Given the description of an element on the screen output the (x, y) to click on. 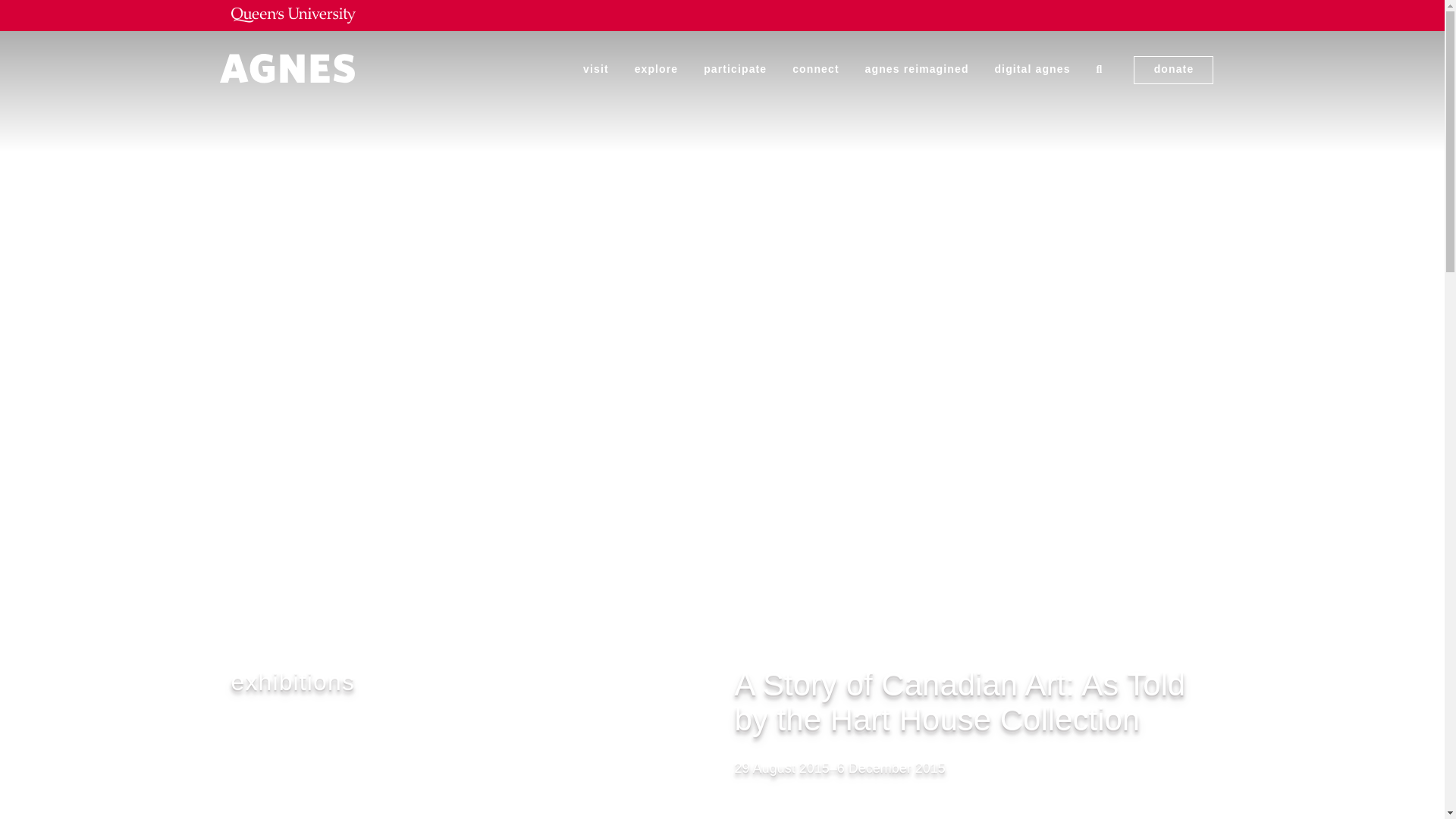
explore (656, 69)
visit (595, 69)
participate (735, 69)
